Given the description of an element on the screen output the (x, y) to click on. 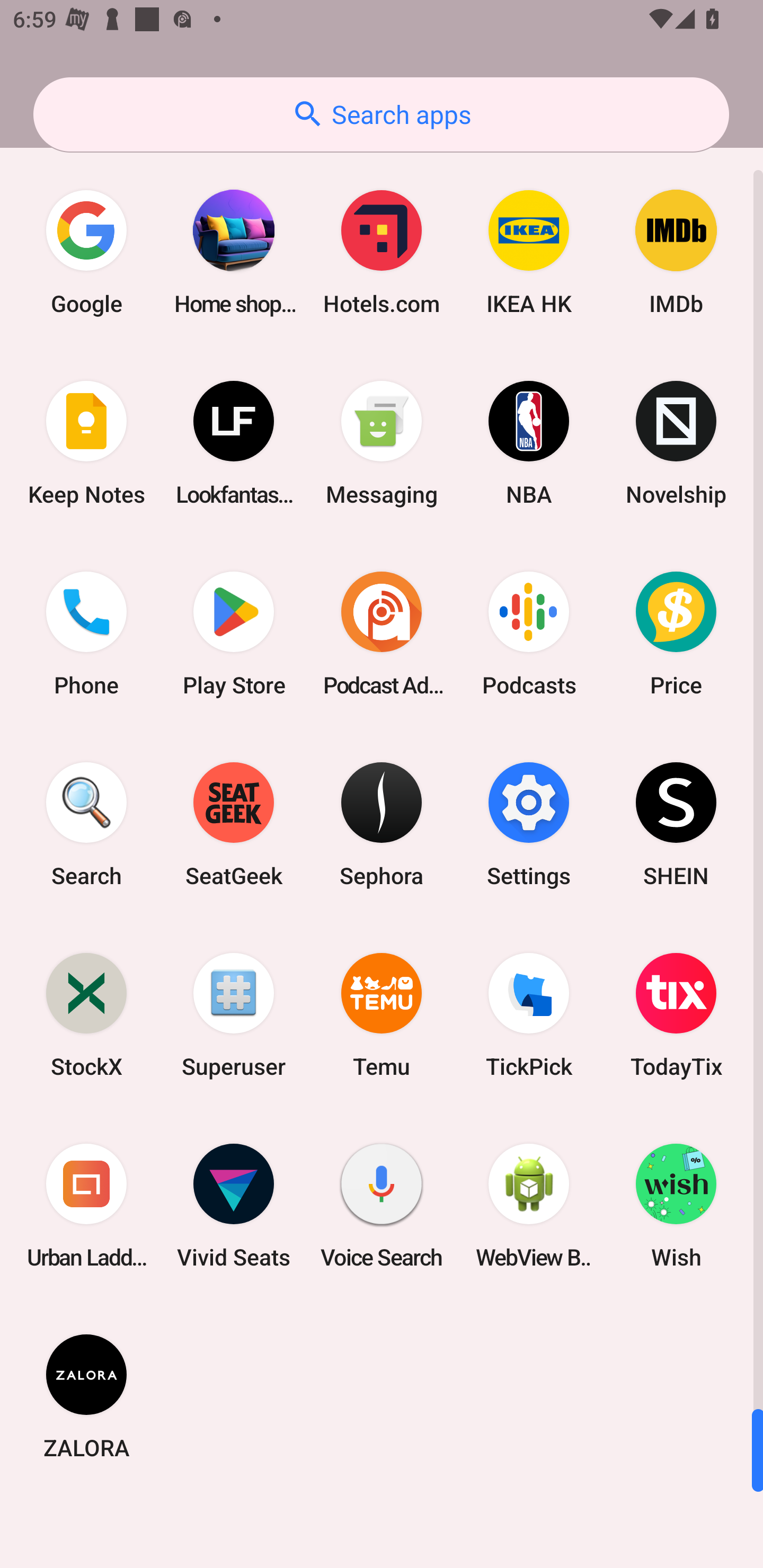
  Search apps (381, 114)
Google (86, 252)
Home shopping (233, 252)
Hotels.com (381, 252)
IKEA HK (528, 252)
IMDb (676, 252)
Keep Notes (86, 442)
Lookfantastic (233, 442)
Messaging (381, 442)
NBA (528, 442)
Novelship (676, 442)
Phone (86, 633)
Play Store (233, 633)
Podcast Addict (381, 633)
Podcasts (528, 633)
Price (676, 633)
Search (86, 823)
SeatGeek (233, 823)
Sephora (381, 823)
Settings (528, 823)
SHEIN (676, 823)
StockX (86, 1014)
Superuser (233, 1014)
Temu (381, 1014)
TickPick (528, 1014)
TodayTix (676, 1014)
Urban Ladder (86, 1205)
Vivid Seats (233, 1205)
Voice Search (381, 1205)
WebView Browser Tester (528, 1205)
Wish (676, 1205)
ZALORA (86, 1396)
